Given the description of an element on the screen output the (x, y) to click on. 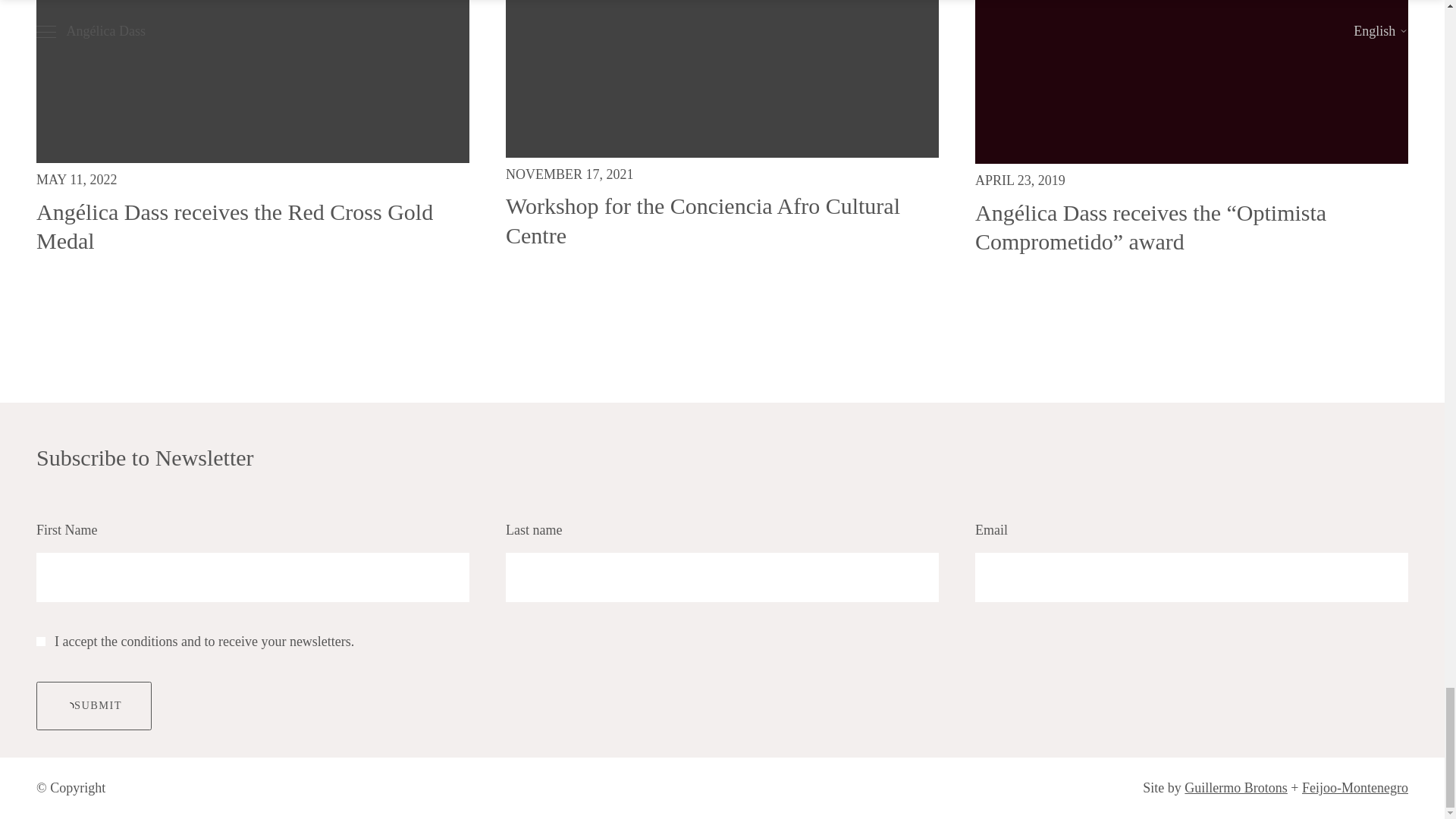
SUBMIT (93, 705)
1 (40, 641)
Feijoo-Montenegro (1354, 787)
Copyright (76, 787)
Guillermo Brotons (1236, 787)
Workshop for the Conciencia Afro Cultural Centre (702, 220)
